Given the description of an element on the screen output the (x, y) to click on. 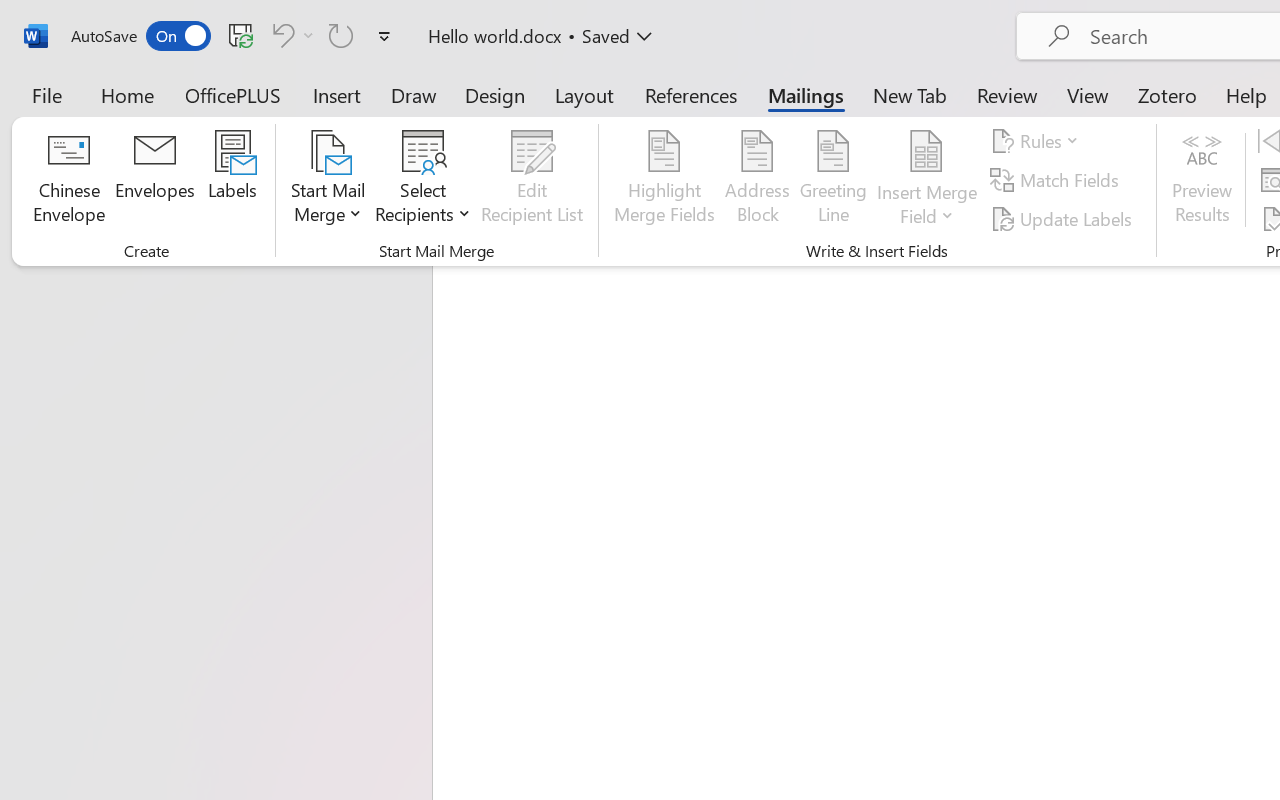
References (690, 94)
Insert (337, 94)
Home (127, 94)
View (1087, 94)
Save (241, 35)
Quick Access Toolbar (233, 36)
AutoSave (140, 35)
Mailings (806, 94)
